Given the description of an element on the screen output the (x, y) to click on. 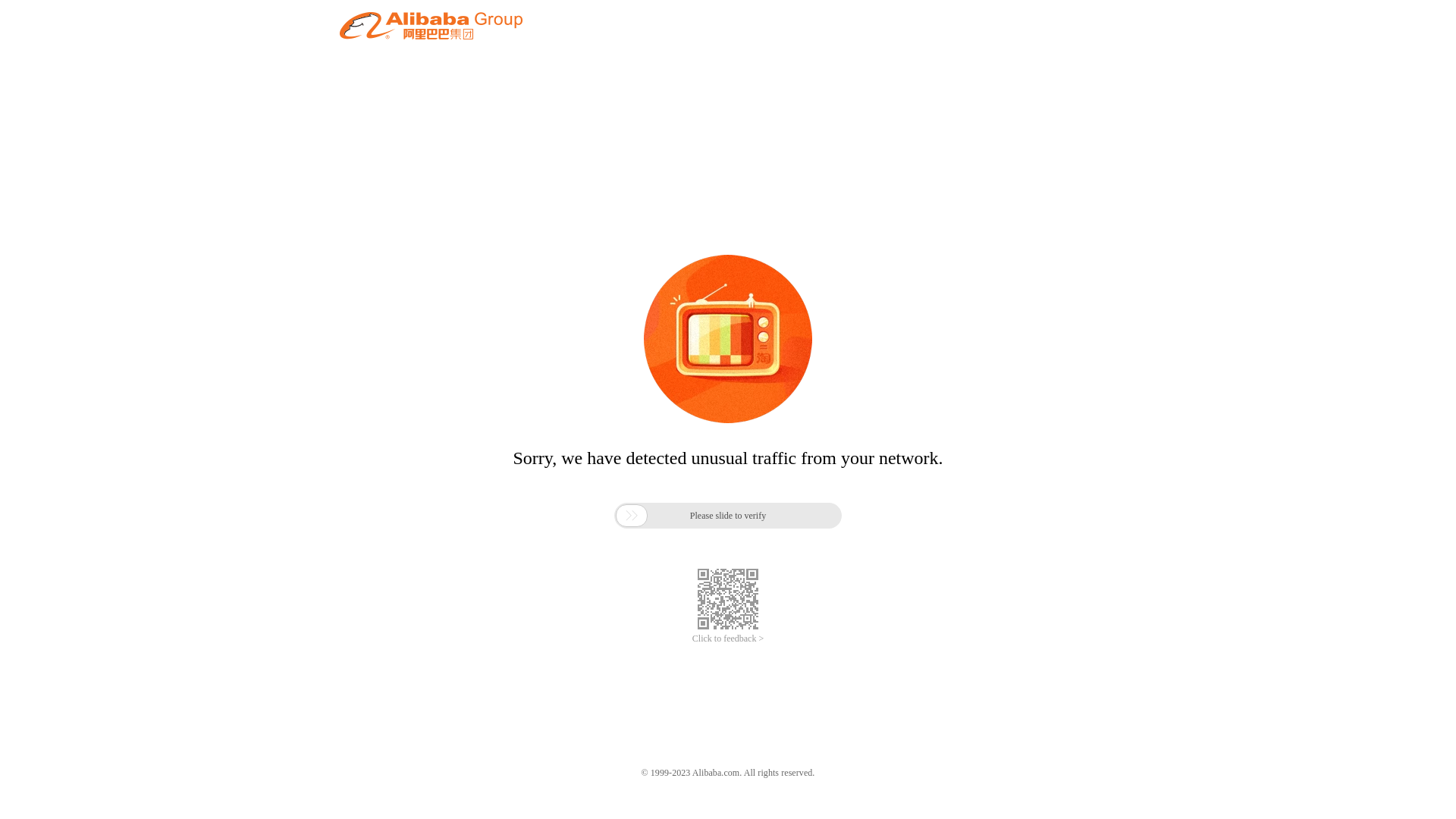
Click to feedback > Element type: text (727, 638)
